Given the description of an element on the screen output the (x, y) to click on. 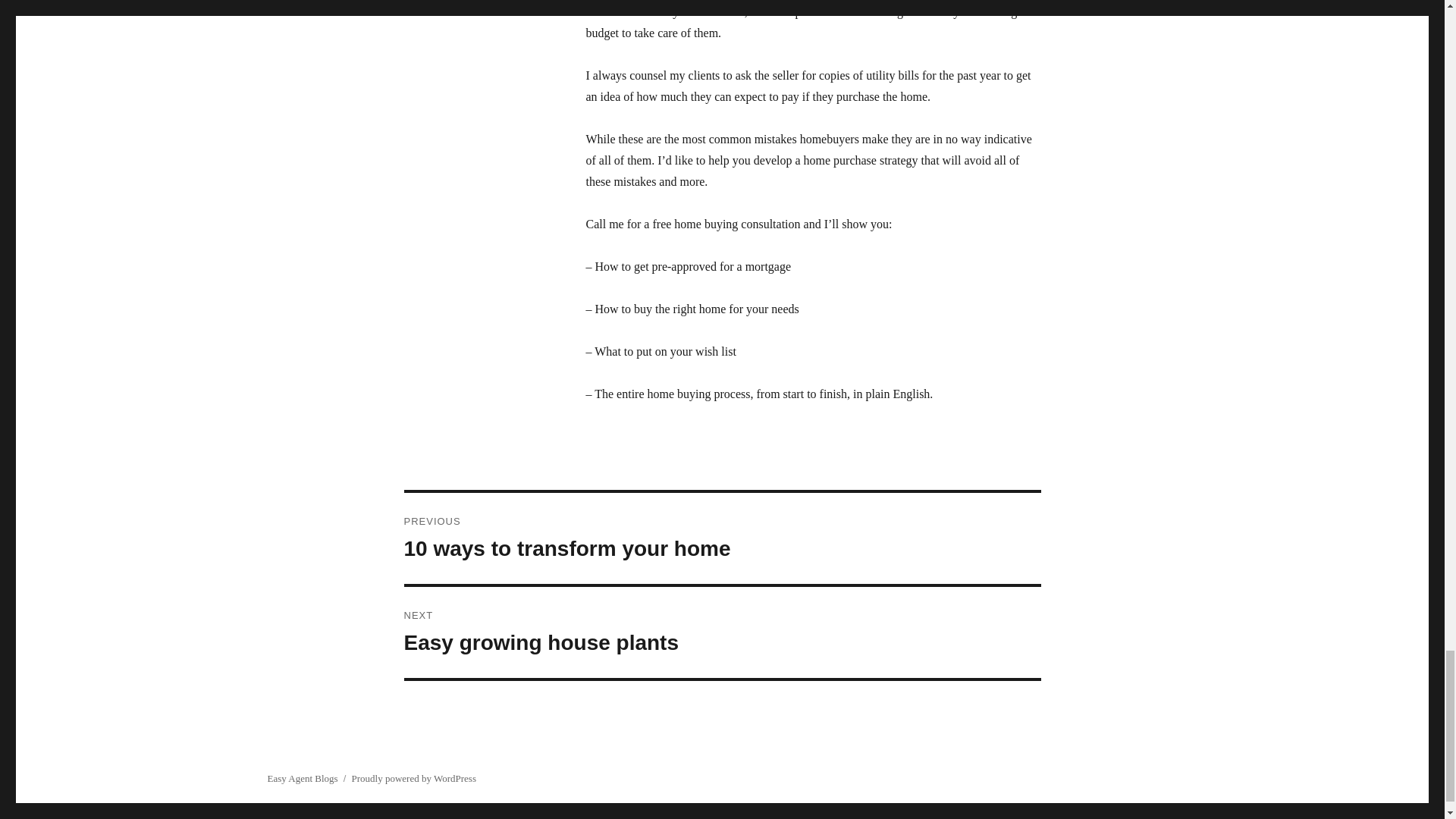
Easy Agent Blogs (722, 632)
Proudly powered by WordPress (722, 538)
